Given the description of an element on the screen output the (x, y) to click on. 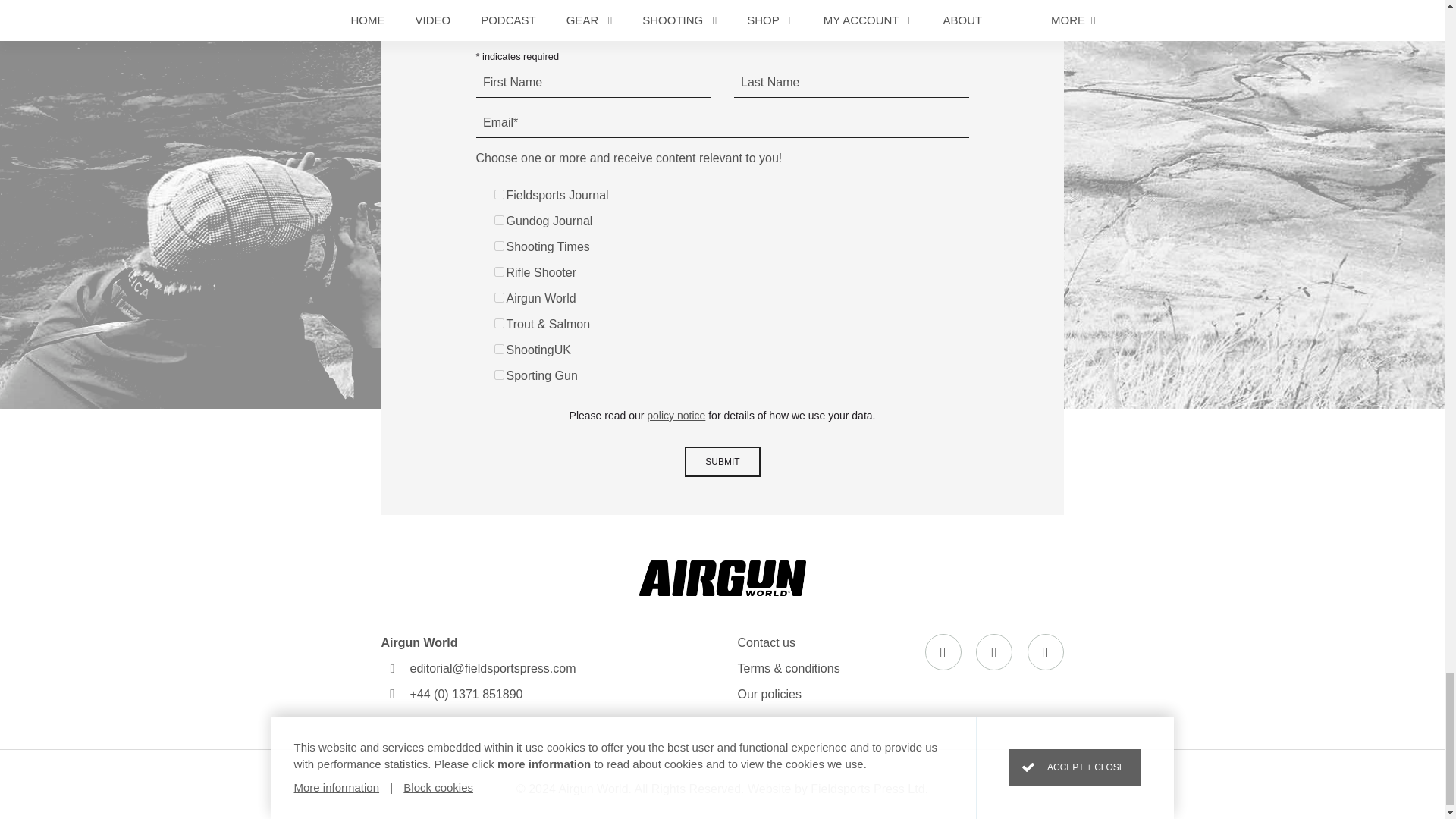
Submit (722, 461)
